Given the description of an element on the screen output the (x, y) to click on. 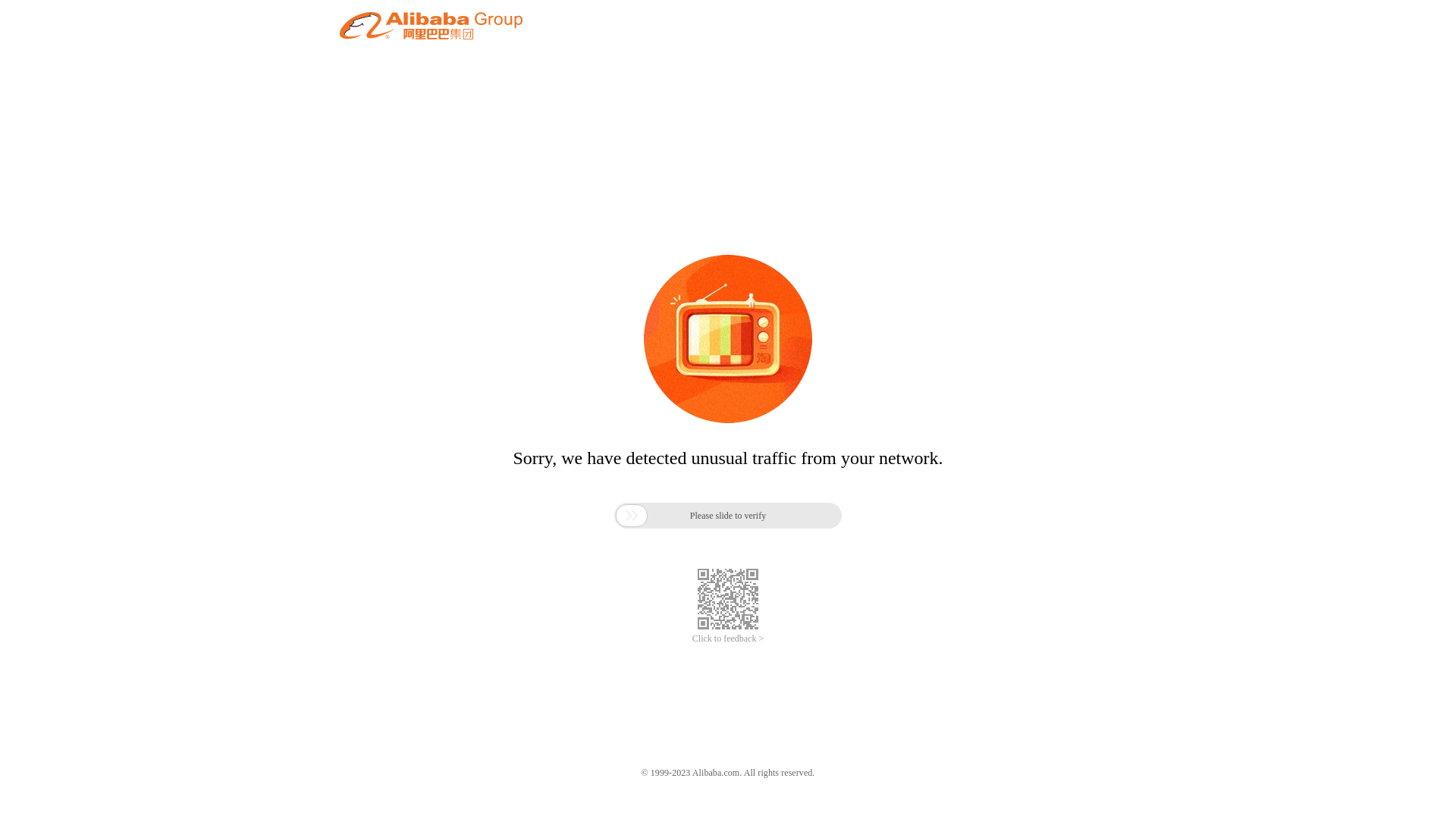
Click to feedback > Element type: text (727, 638)
